Given the description of an element on the screen output the (x, y) to click on. 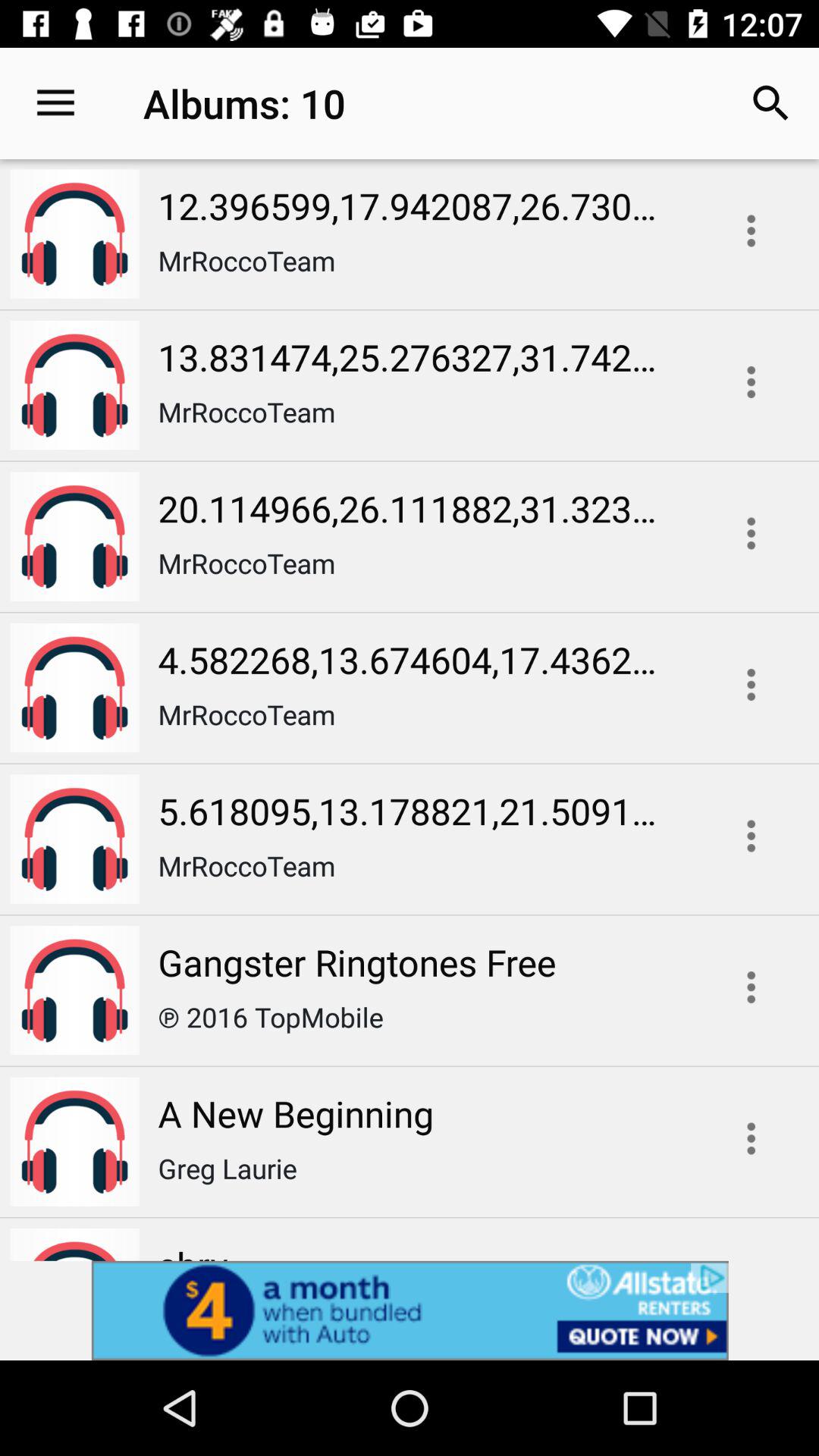
option (750, 533)
